Given the description of an element on the screen output the (x, y) to click on. 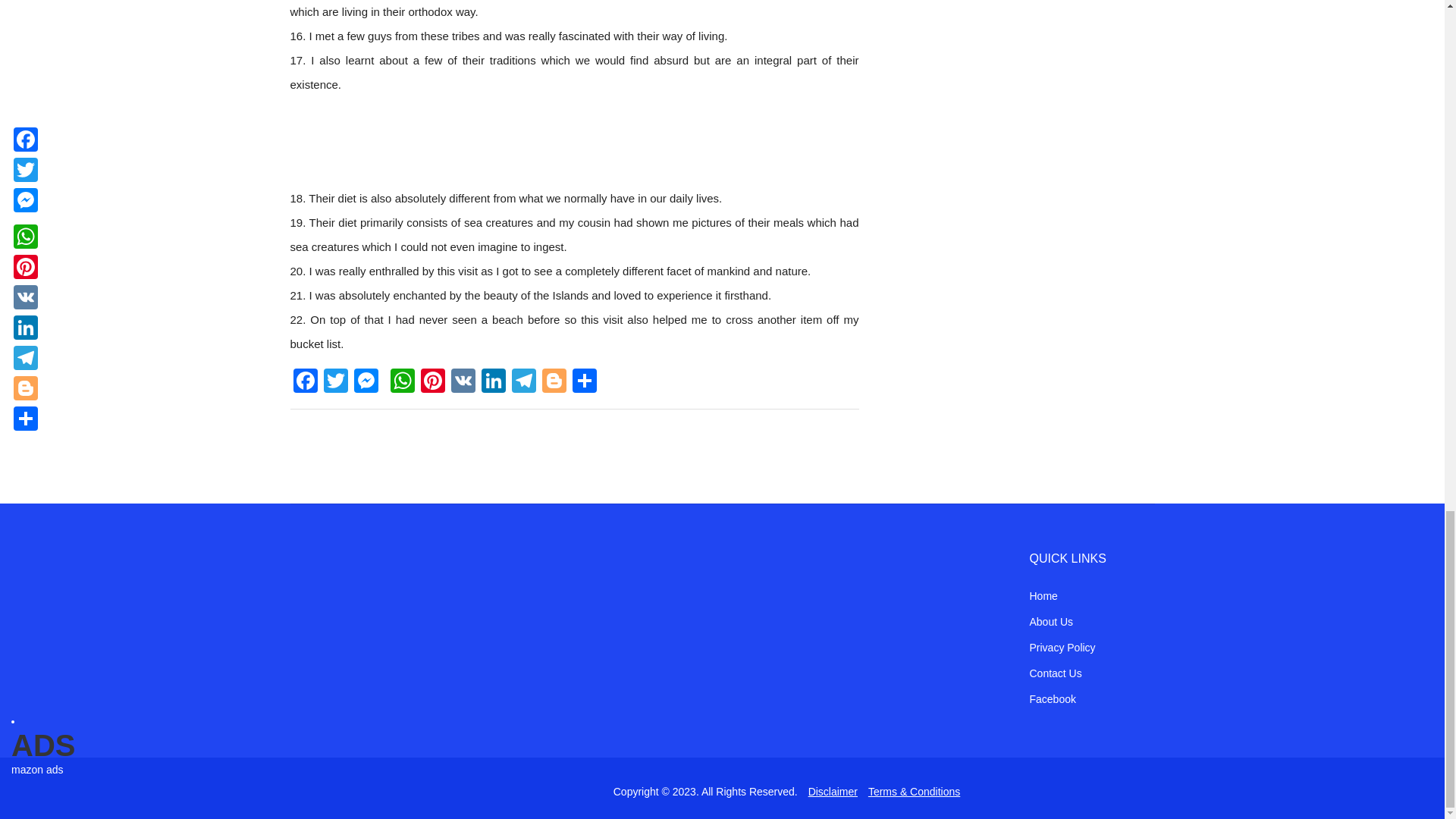
WhatsApp (401, 382)
VK (461, 382)
Blogger (553, 382)
LinkedIn (492, 382)
Disclaimer (832, 791)
Pinterest (431, 382)
VK (461, 382)
Facebook Messenger (365, 382)
WhatsApp (401, 382)
Facebook (1052, 698)
Facebook (304, 382)
Pinterest (431, 382)
LinkedIn (492, 382)
About Us (1051, 621)
Telegram (523, 382)
